Given the description of an element on the screen output the (x, y) to click on. 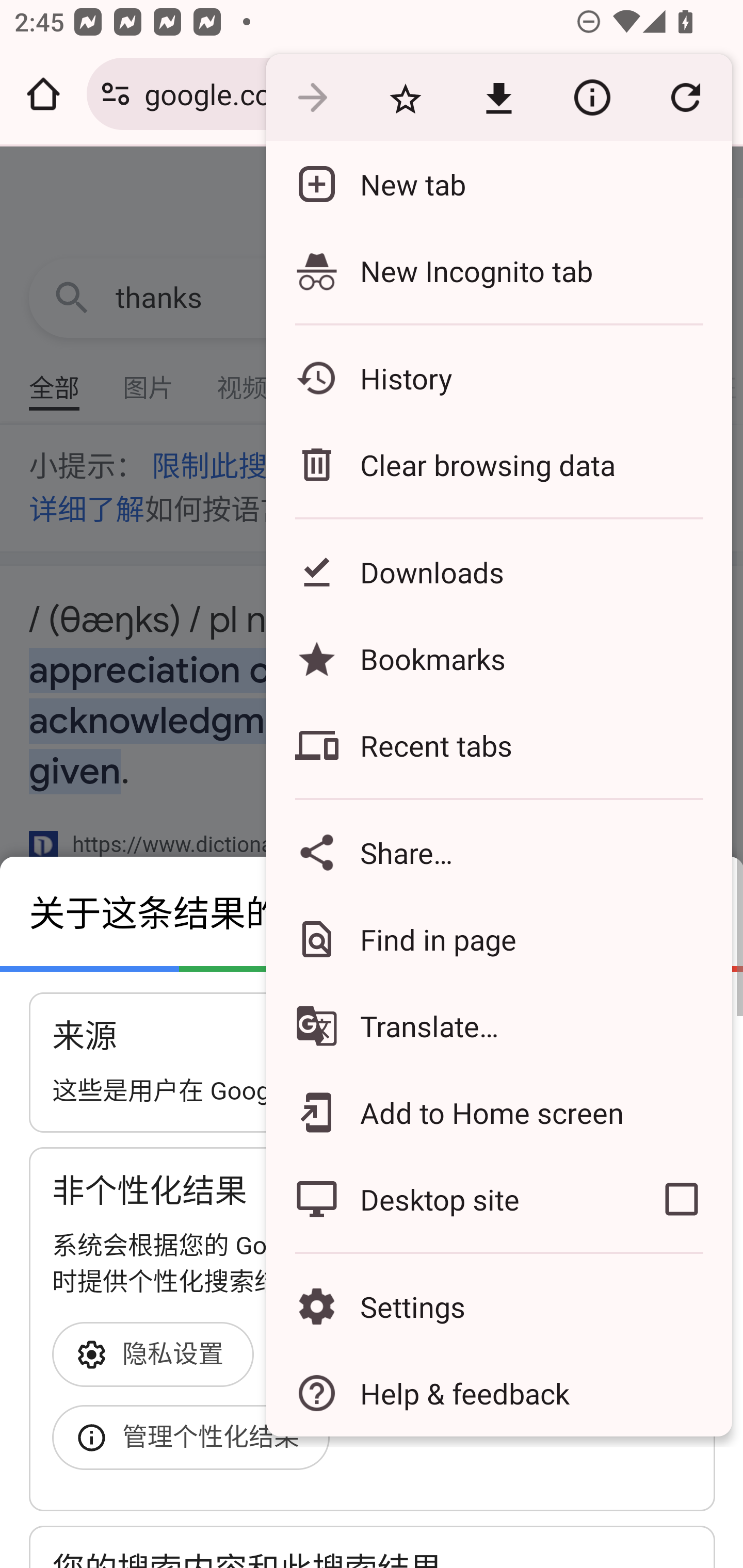
Forward (311, 97)
Bookmark (404, 97)
Download (498, 97)
Page info (591, 97)
Refresh (684, 97)
New tab (498, 184)
New Incognito tab (498, 270)
History (498, 377)
Clear browsing data (498, 464)
Downloads (498, 571)
Bookmarks (498, 658)
Recent tabs (498, 745)
Share… (498, 852)
Find in page (498, 939)
Translate… (498, 1026)
Add to Home screen (498, 1112)
Desktop site Turn on Request desktop site (447, 1198)
Settings (498, 1306)
Help & feedback (498, 1393)
